Given the description of an element on the screen output the (x, y) to click on. 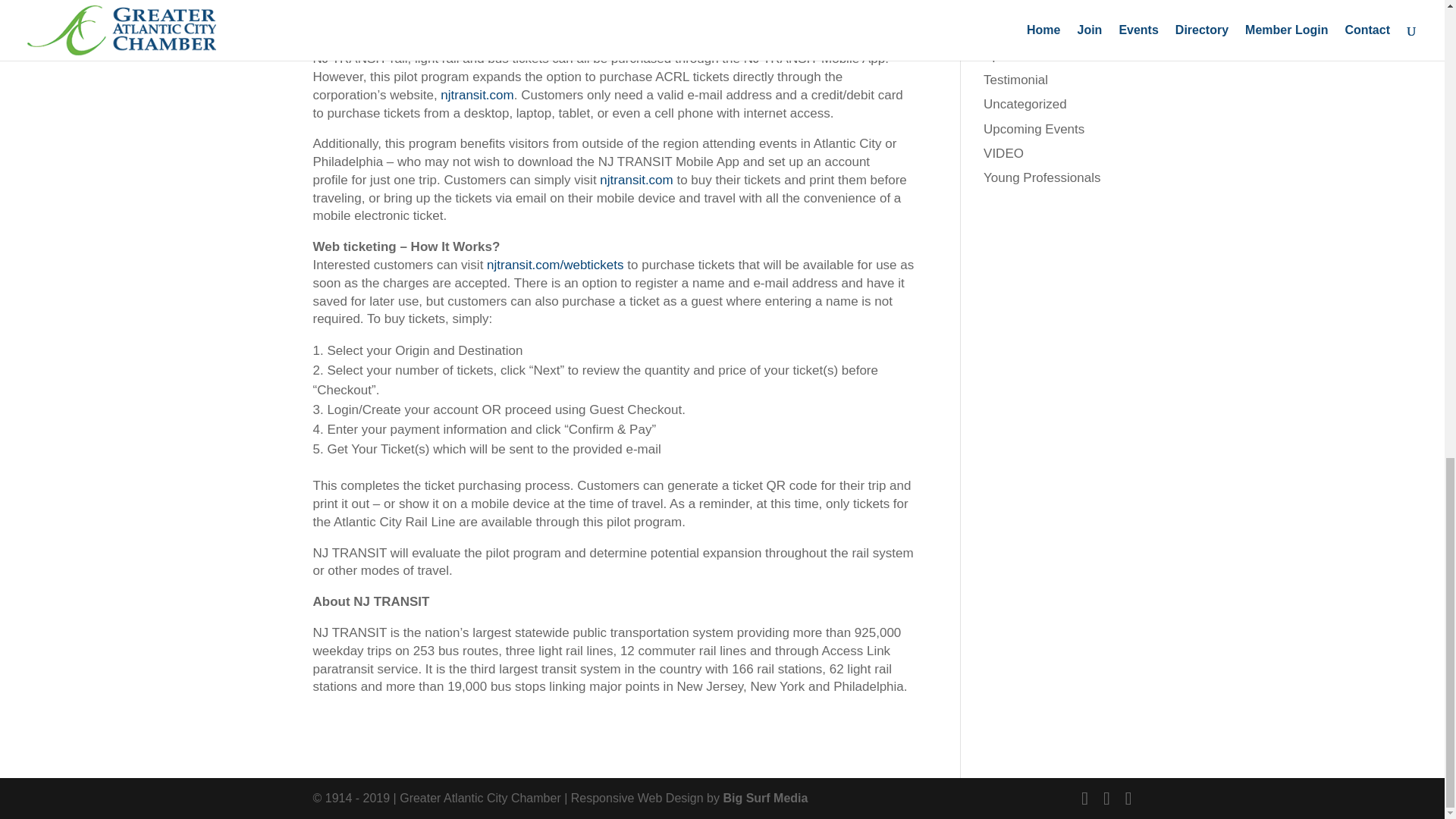
njtransit.com (477, 94)
njtransit.com (635, 179)
